Given the description of an element on the screen output the (x, y) to click on. 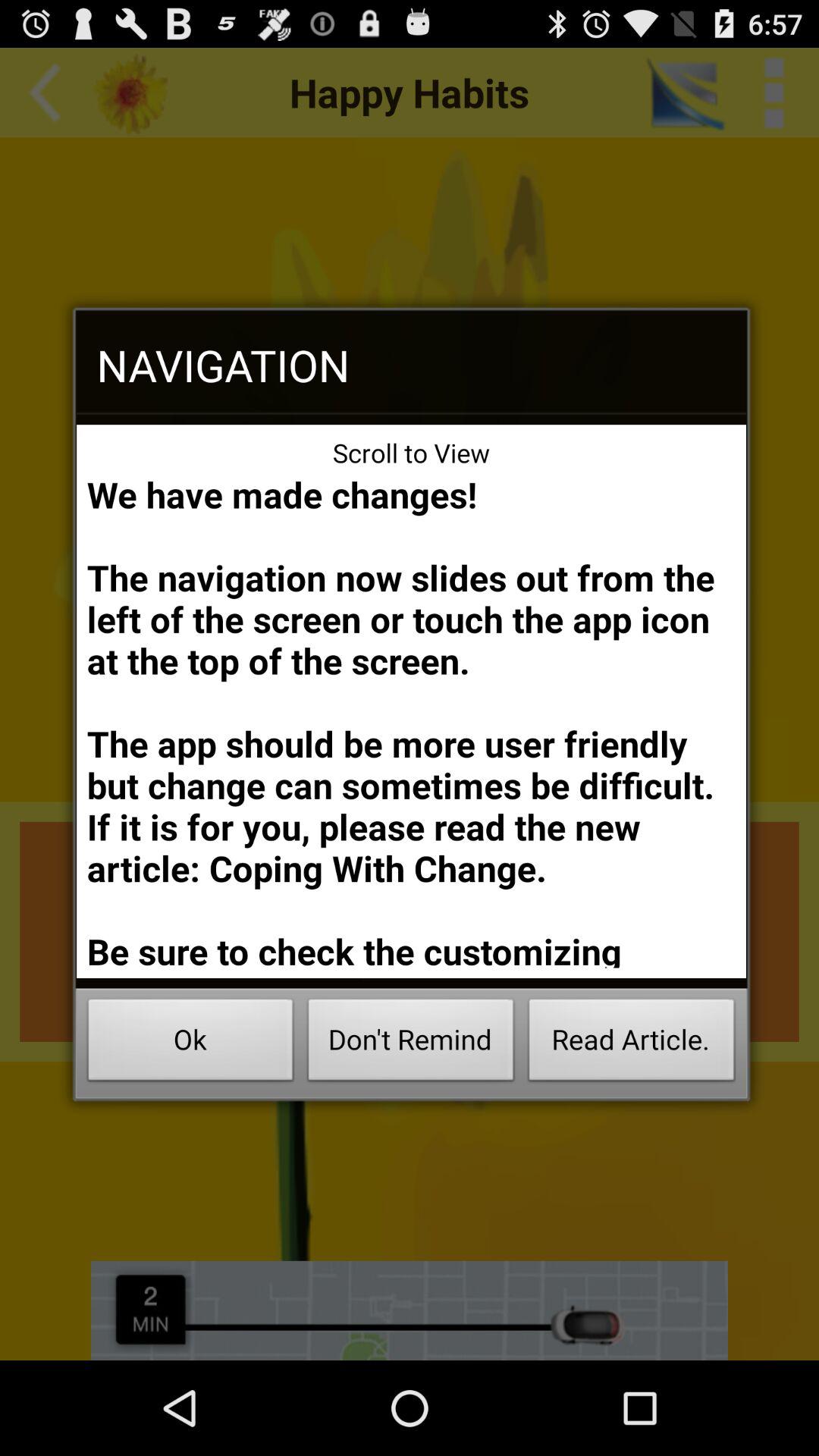
launch ok at the bottom left corner (190, 1044)
